Given the description of an element on the screen output the (x, y) to click on. 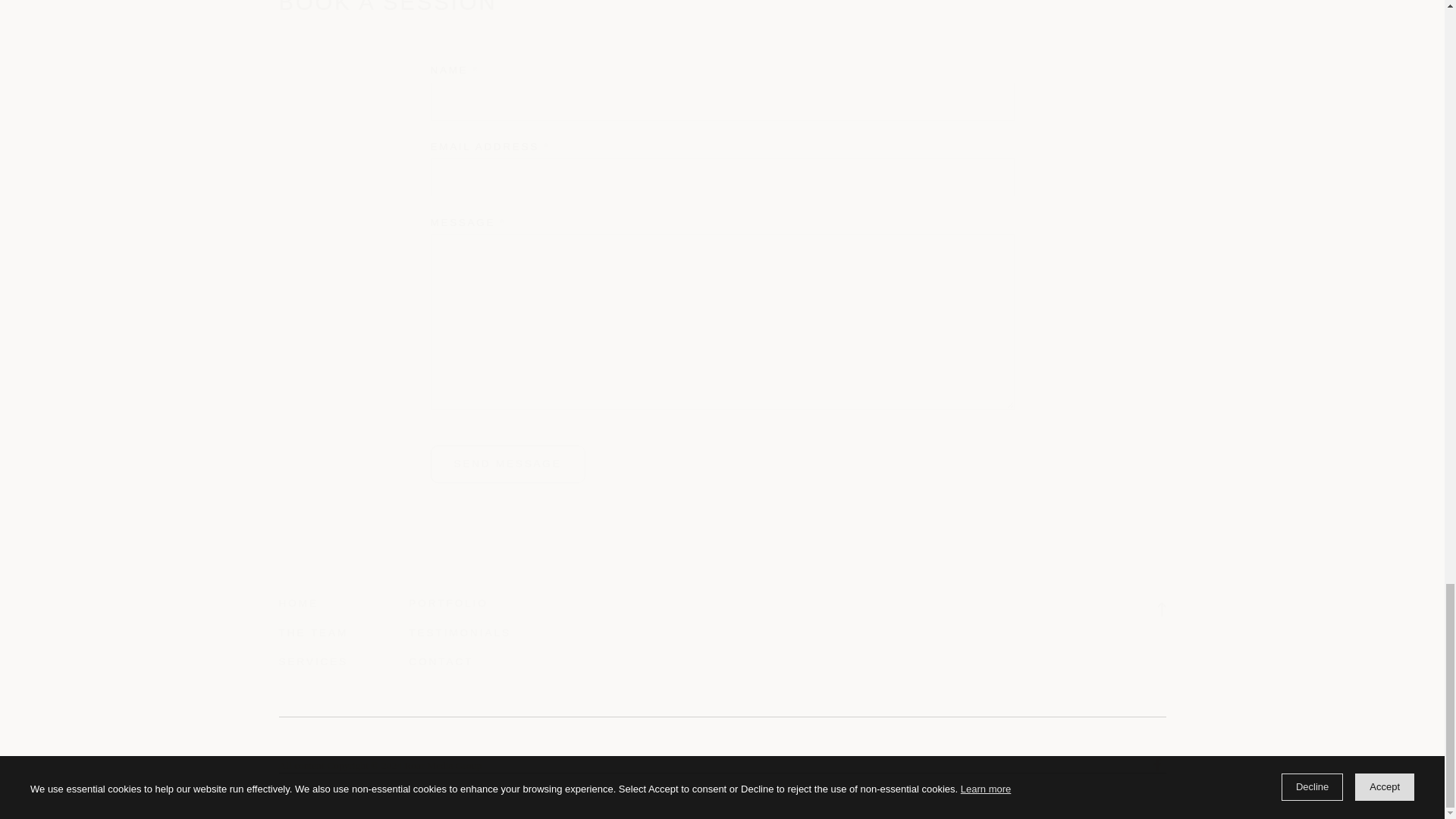
SEND MESSAGE (507, 464)
SERVICES (314, 661)
THE TEAM (314, 633)
HOME (298, 604)
